Given the description of an element on the screen output the (x, y) to click on. 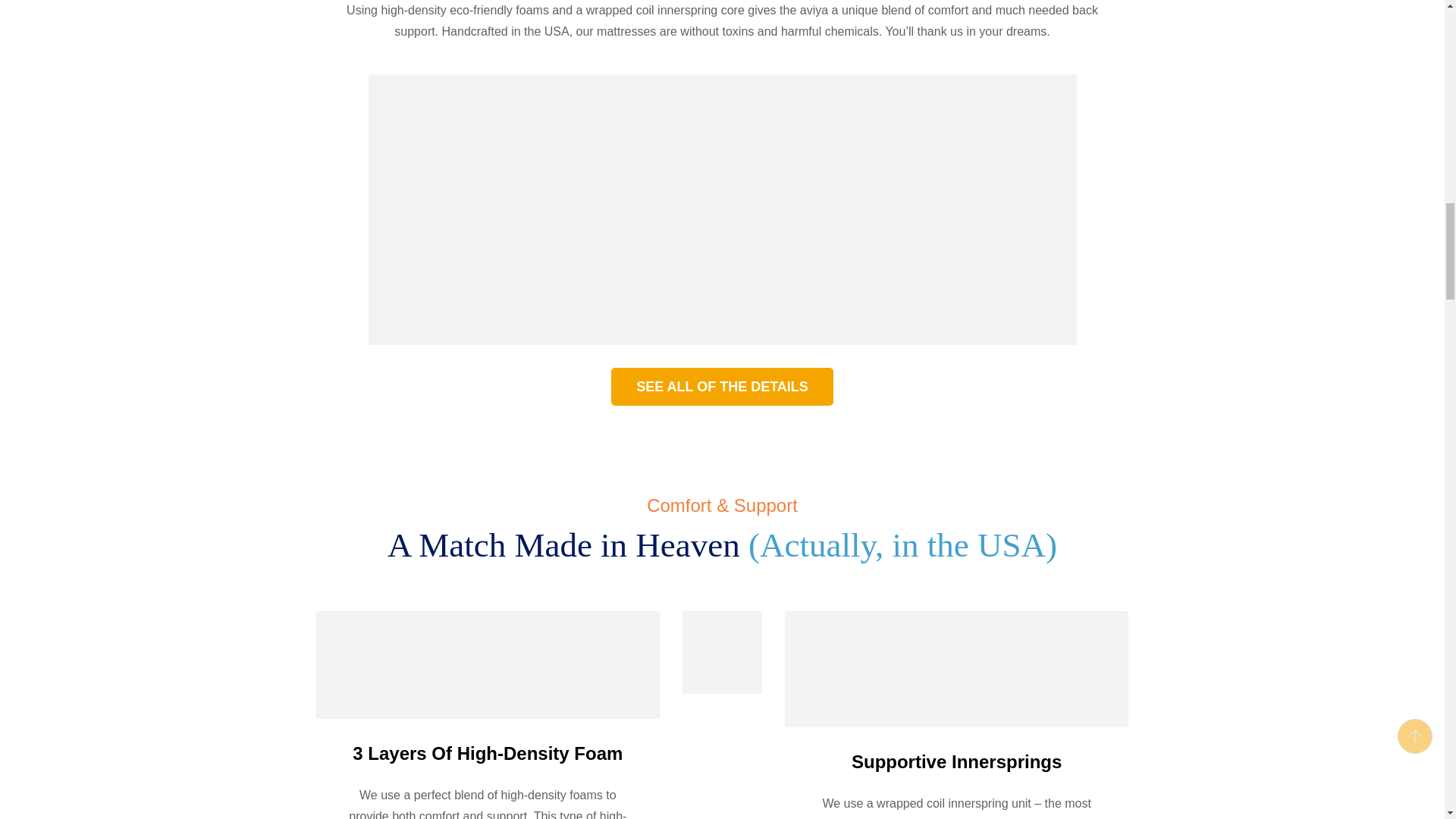
SEE ALL OF THE DETAILS (721, 386)
